Given the description of an element on the screen output the (x, y) to click on. 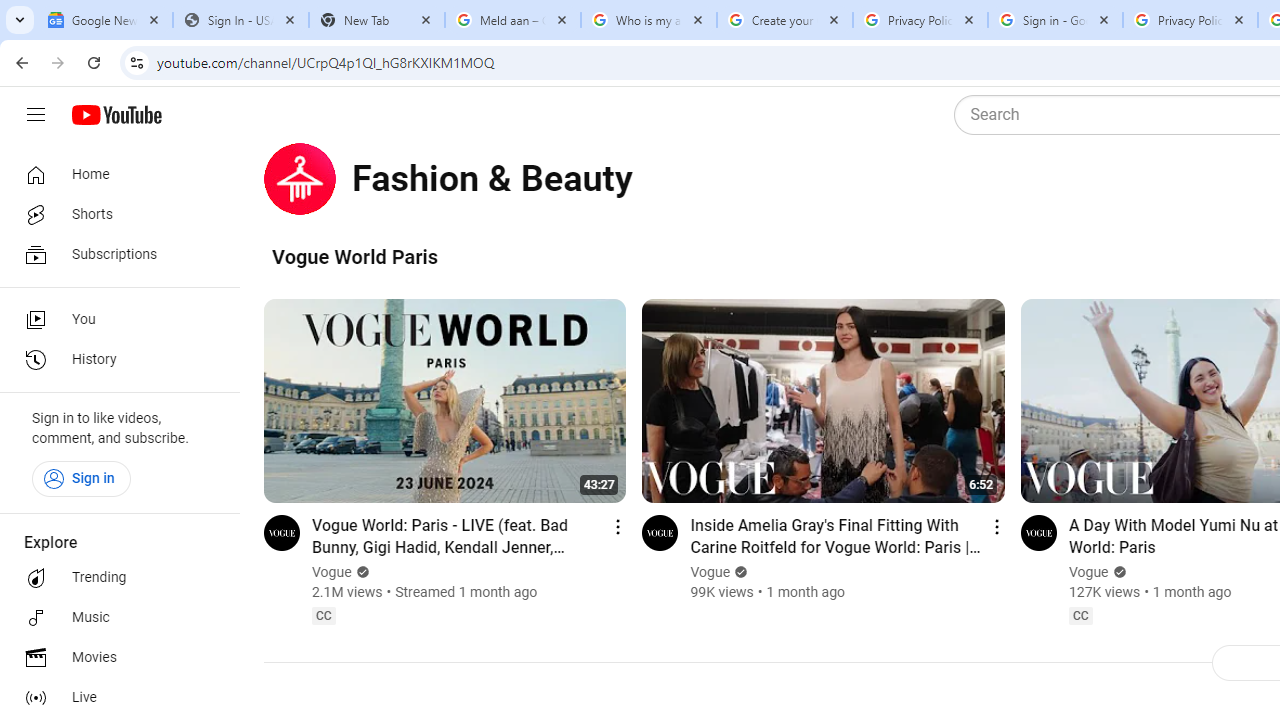
Vogue (1088, 572)
Google News (104, 20)
Sign In - USA TODAY (240, 20)
Movies (113, 657)
Go to channel (1038, 532)
New Tab (376, 20)
Action menu (996, 526)
Trending (113, 578)
